Given the description of an element on the screen output the (x, y) to click on. 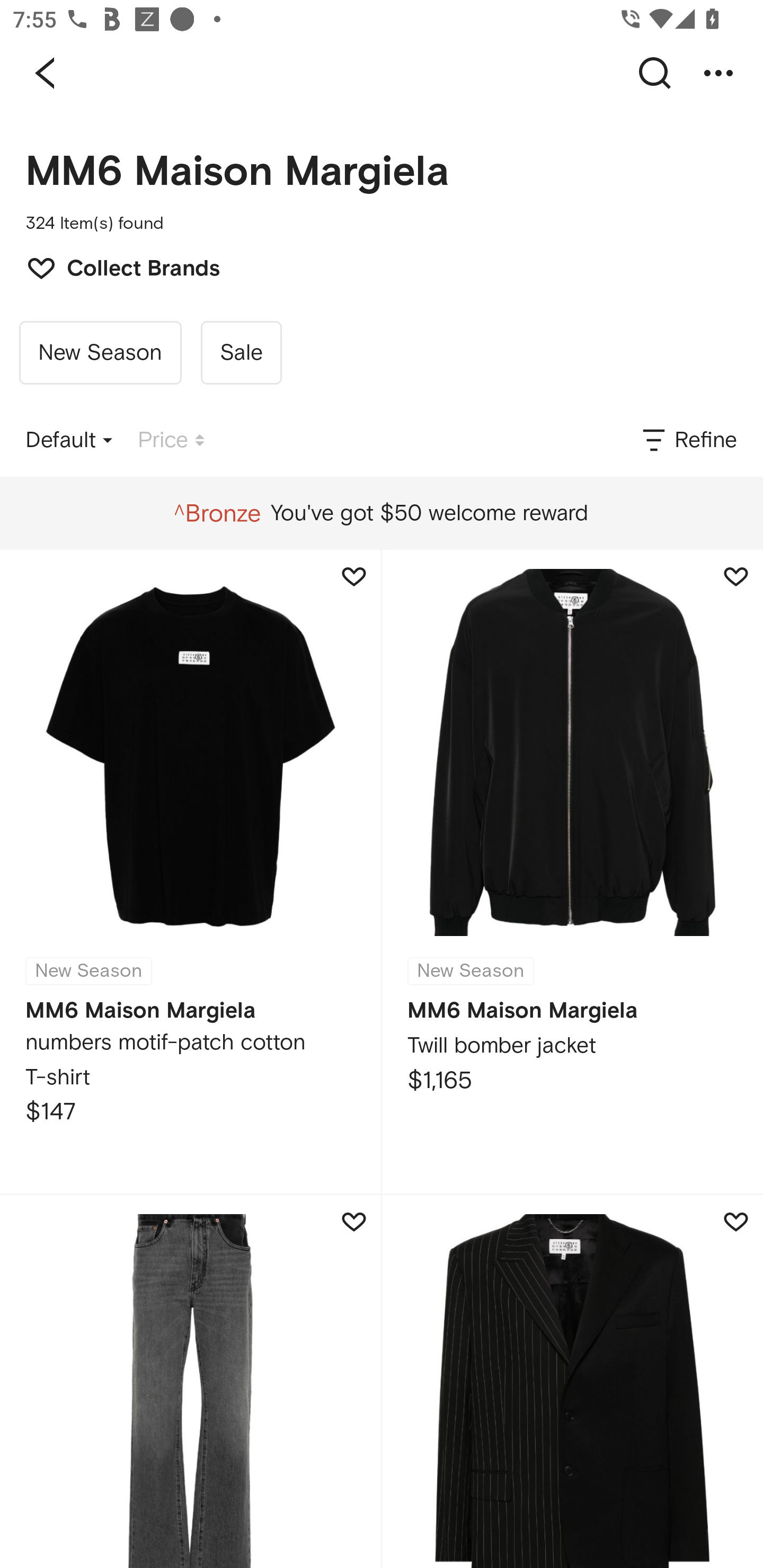
Collect Brands (114, 266)
New Season (100, 352)
Sale (240, 352)
Default (68, 440)
Price (171, 440)
Refine (688, 440)
You've got $50 welcome reward (381, 513)
